Given the description of an element on the screen output the (x, y) to click on. 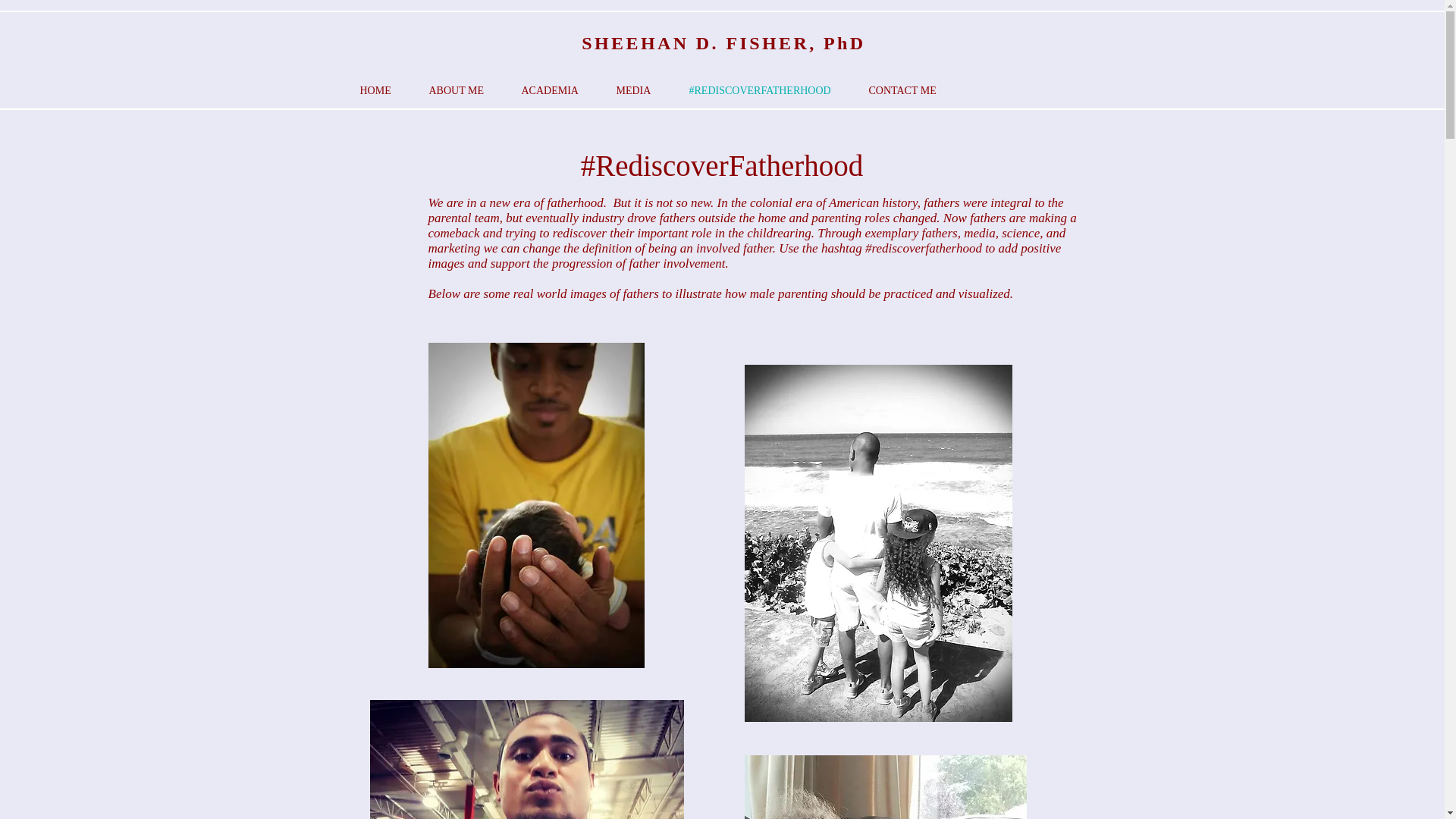
MEDIA (632, 90)
HOME (375, 90)
ABOUT ME (455, 90)
ACADEMIA (549, 90)
CONTACT ME (901, 90)
